Given the description of an element on the screen output the (x, y) to click on. 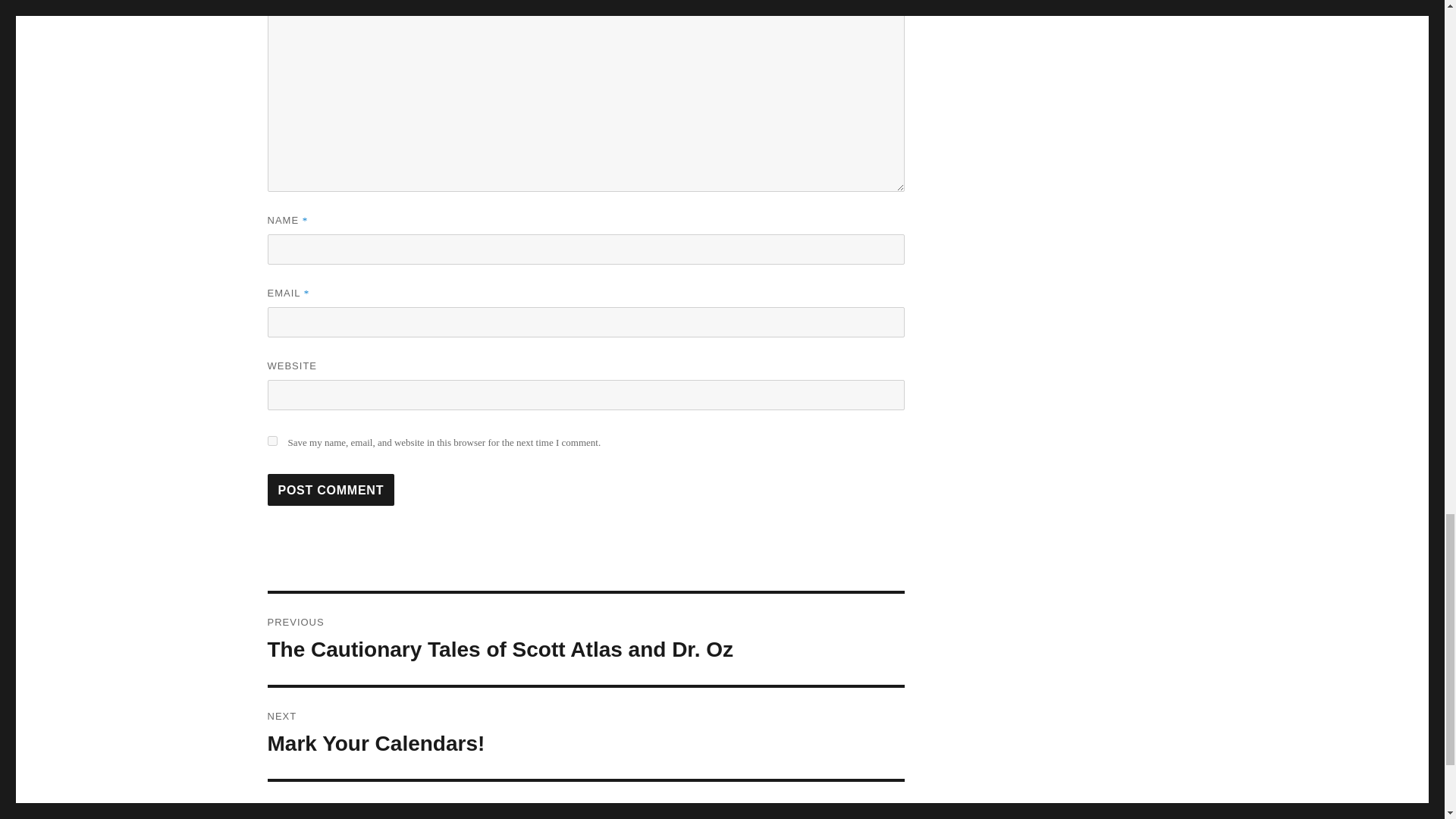
Post Comment (330, 490)
yes (271, 440)
Post Comment (330, 490)
